Given the description of an element on the screen output the (x, y) to click on. 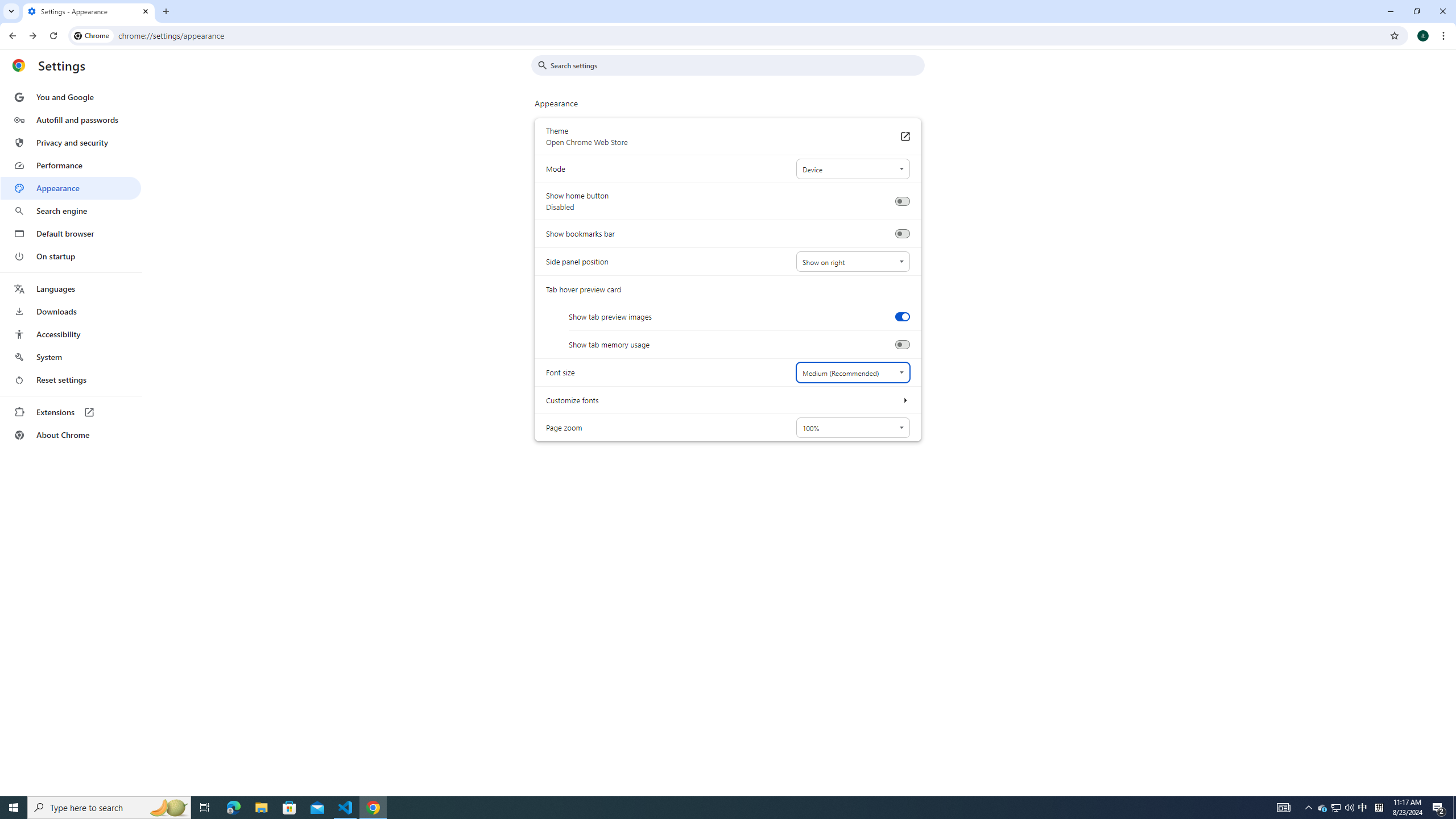
Default browser (70, 233)
Mode (852, 168)
Appearance (70, 187)
Customize fonts (904, 399)
You and Google (70, 96)
Search settings (735, 65)
Settings - Appearance (88, 11)
Show tab memory usage (901, 344)
Accessibility (70, 333)
